Given the description of an element on the screen output the (x, y) to click on. 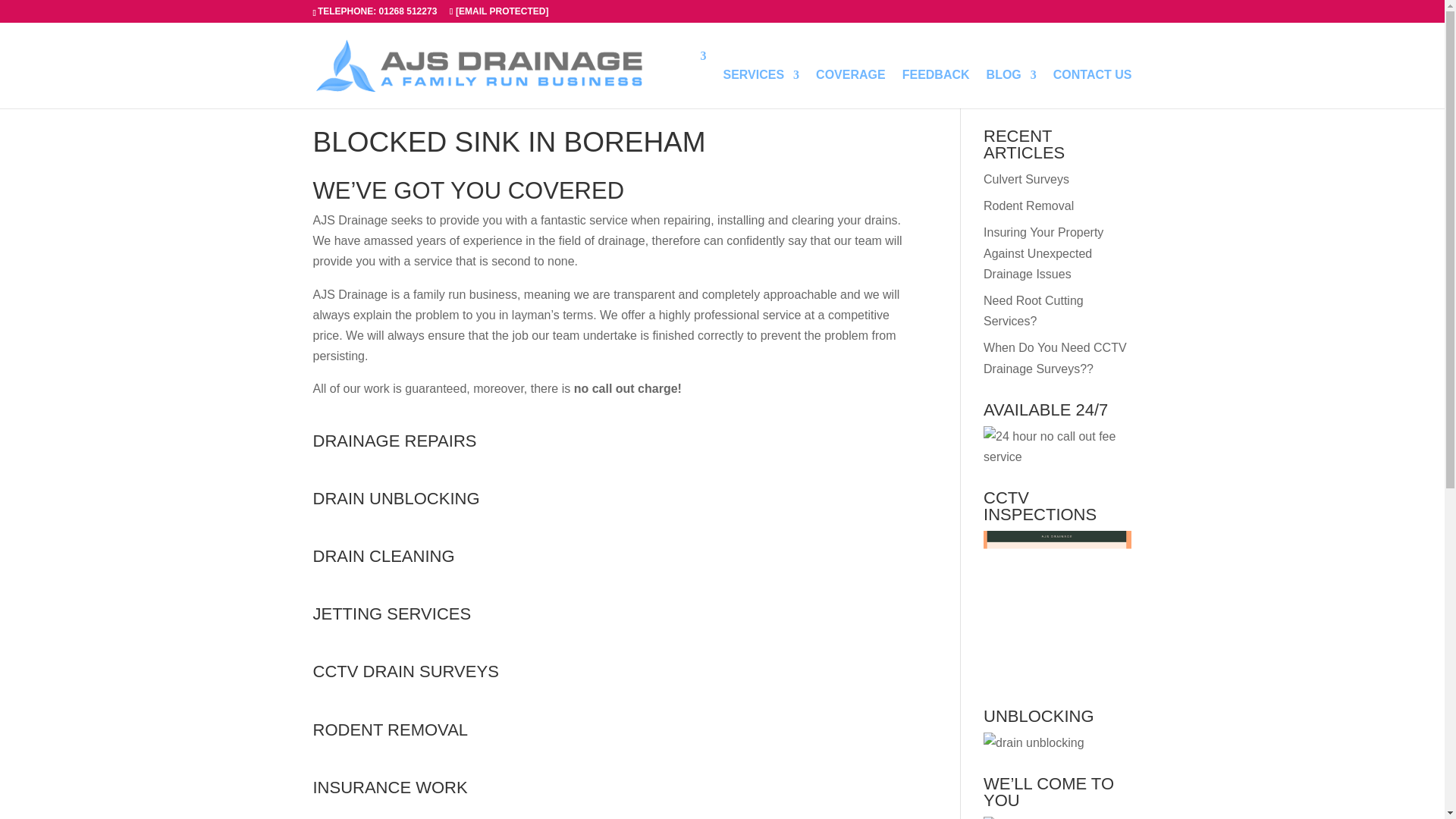
SERVICES (760, 88)
Insuring Your Property Against Unexpected Drainage Issues (1043, 253)
Rodent Removal (1029, 205)
When Do You Need CCTV Drainage Surveys?? (1055, 357)
Need Root Cutting Services? (1033, 310)
Culvert Surveys (1026, 178)
COVERAGE (850, 88)
CONTACT US (1092, 88)
BLOG (1011, 88)
FEEDBACK (935, 88)
